Given the description of an element on the screen output the (x, y) to click on. 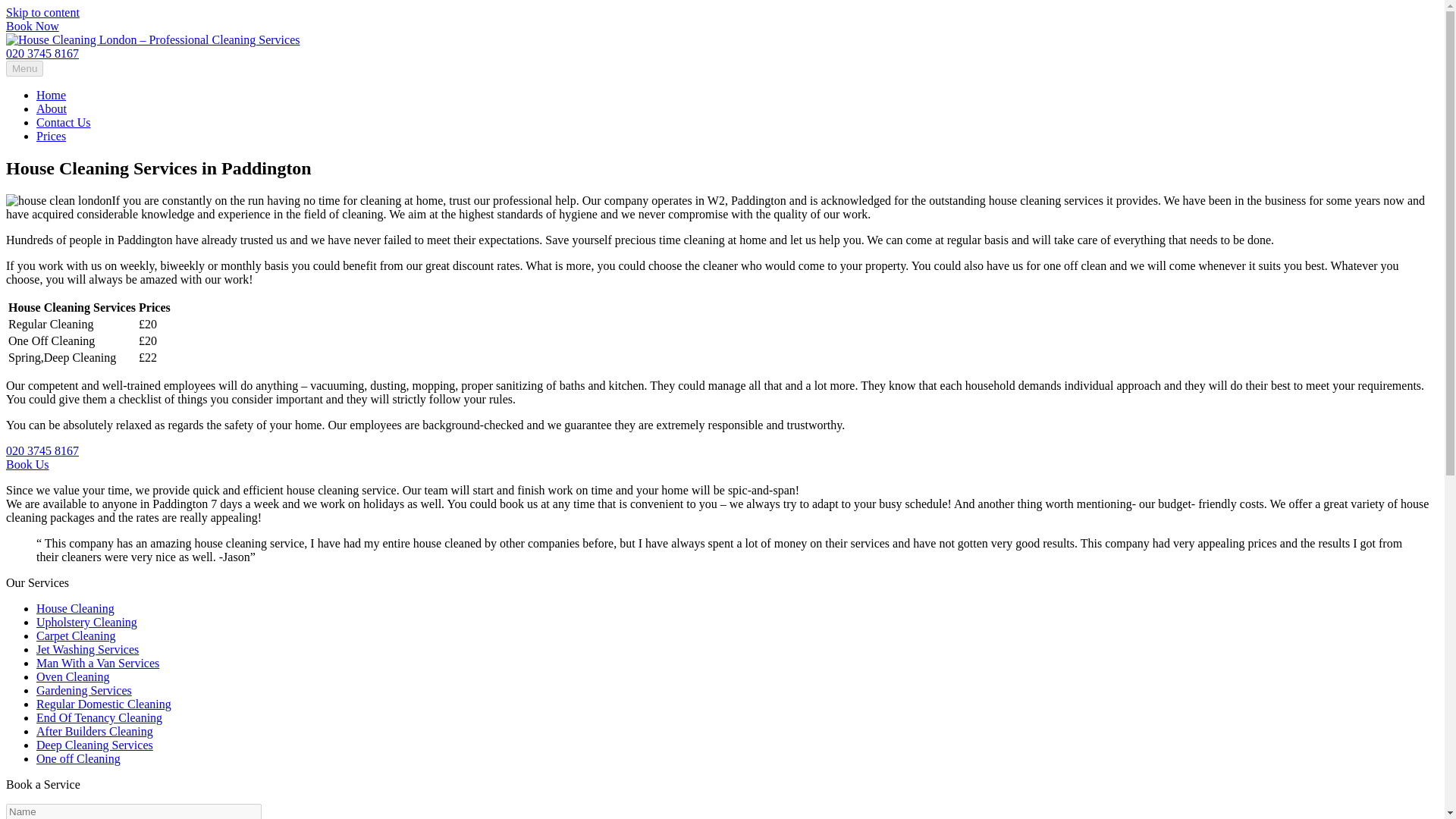
Man With a Van Services (97, 662)
Carpet Cleaning (75, 635)
Book Us (26, 463)
Regular Domestic Cleaning (103, 703)
After Builders Cleaning (94, 730)
Deep Cleaning Services (94, 744)
One off Cleaning (78, 758)
020 3745 8167 (41, 52)
Home (50, 94)
Contact Us (63, 122)
